Given the description of an element on the screen output the (x, y) to click on. 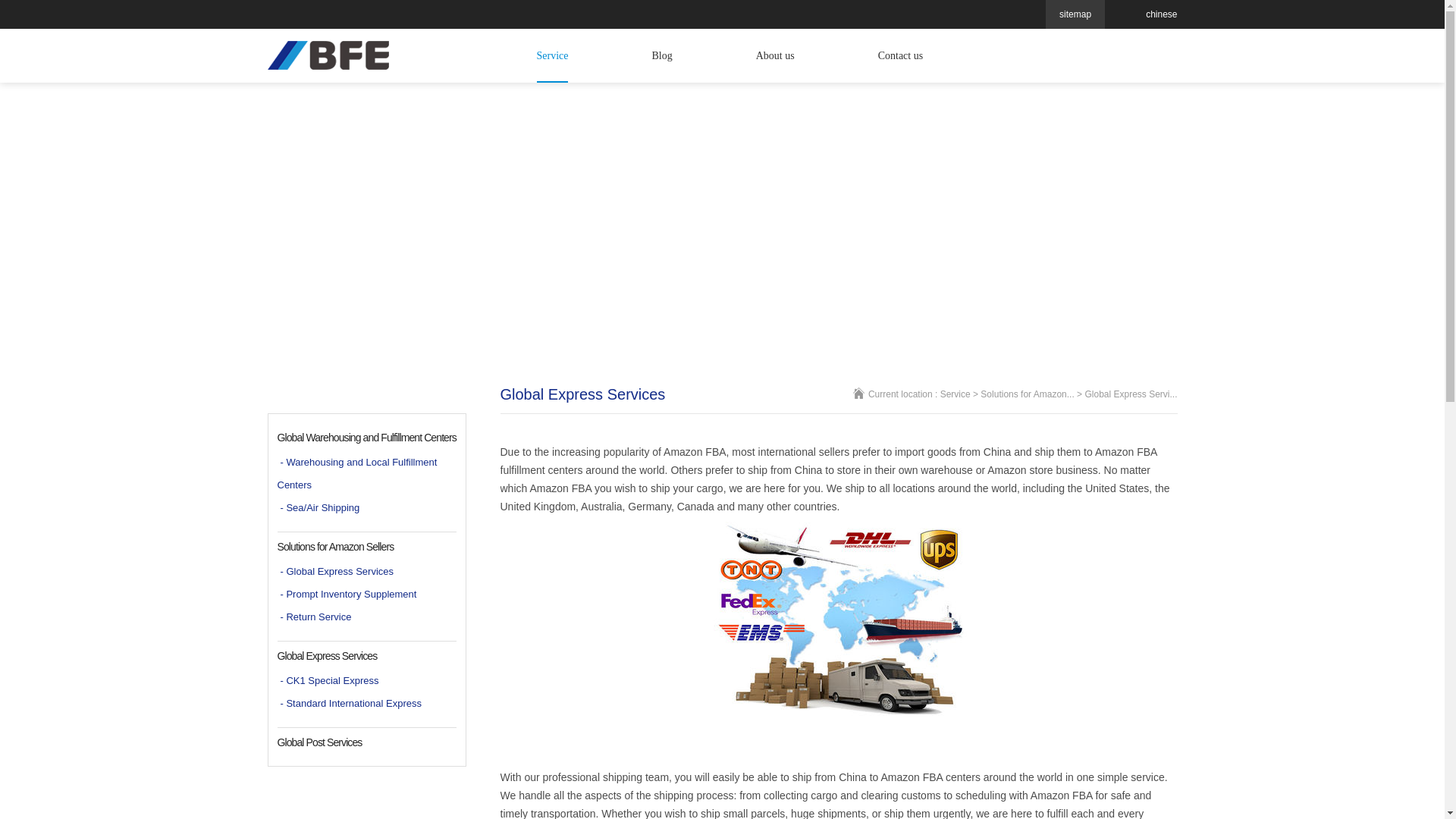
sitemap (1075, 14)
- Return Service (367, 617)
- Standard International Express (367, 703)
Global Express Services (371, 655)
- Warehousing and Local Fulfillment Centers (367, 473)
Service (955, 394)
Solutions for Amazon Sellers (371, 546)
chinese (1160, 14)
Solutions for Amazon... (1026, 394)
Global Warehousing and Fulfillment Centers (371, 437)
- Prompt Inventory Supplement (367, 594)
Global Express Servi... (1130, 394)
- CK1 Special Express (367, 680)
- Global Express Services (367, 571)
Global Post Services (371, 741)
